Given the description of an element on the screen output the (x, y) to click on. 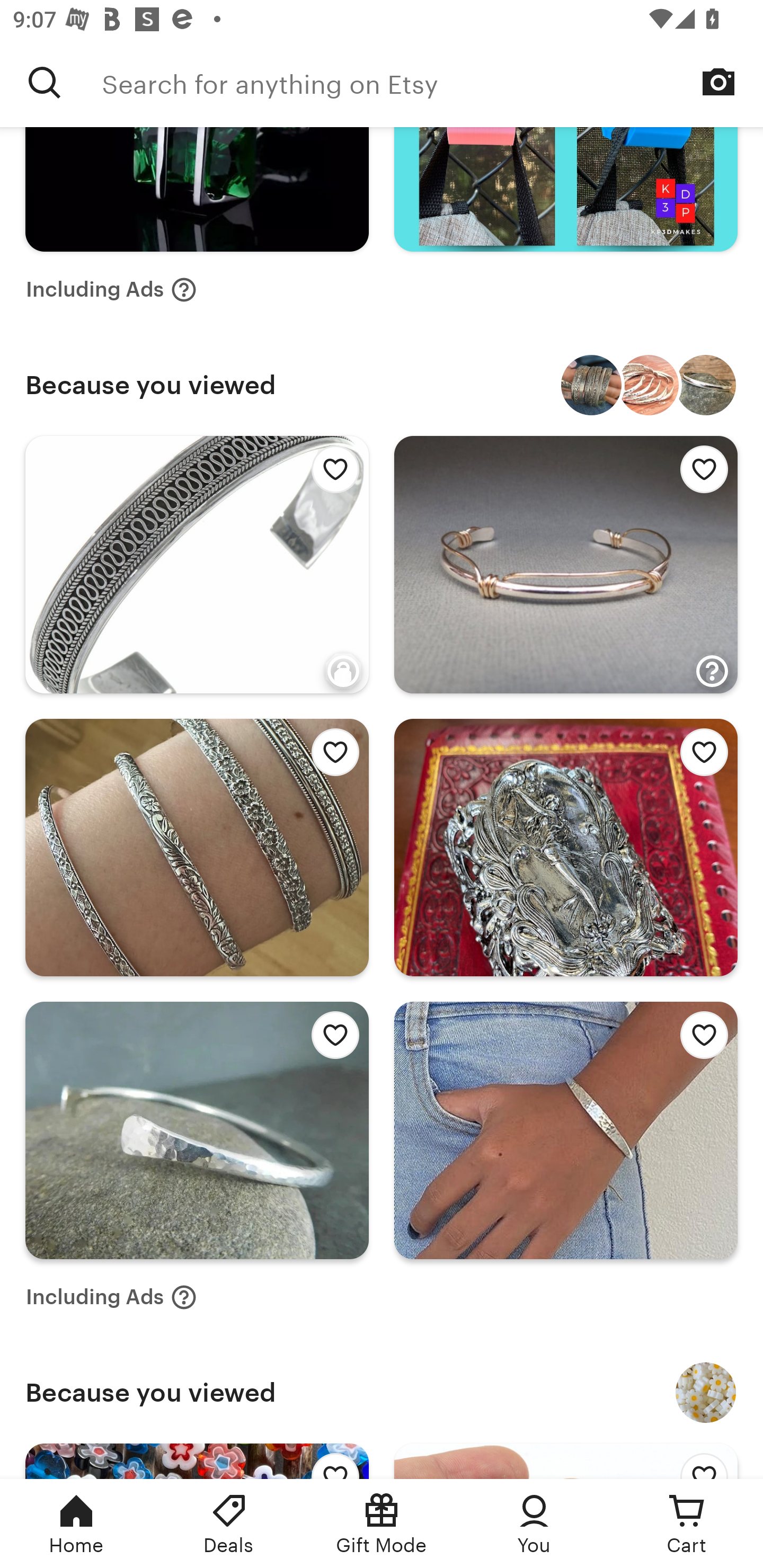
Search for anything on Etsy (44, 82)
Search by image (718, 81)
Search for anything on Etsy (432, 82)
Including Ads (111, 288)
Including Ads (111, 1297)
Millefiori Glass Daisy Flower Beads (705, 1392)
Deals (228, 1523)
Gift Mode (381, 1523)
You (533, 1523)
Cart (686, 1523)
